Given the description of an element on the screen output the (x, y) to click on. 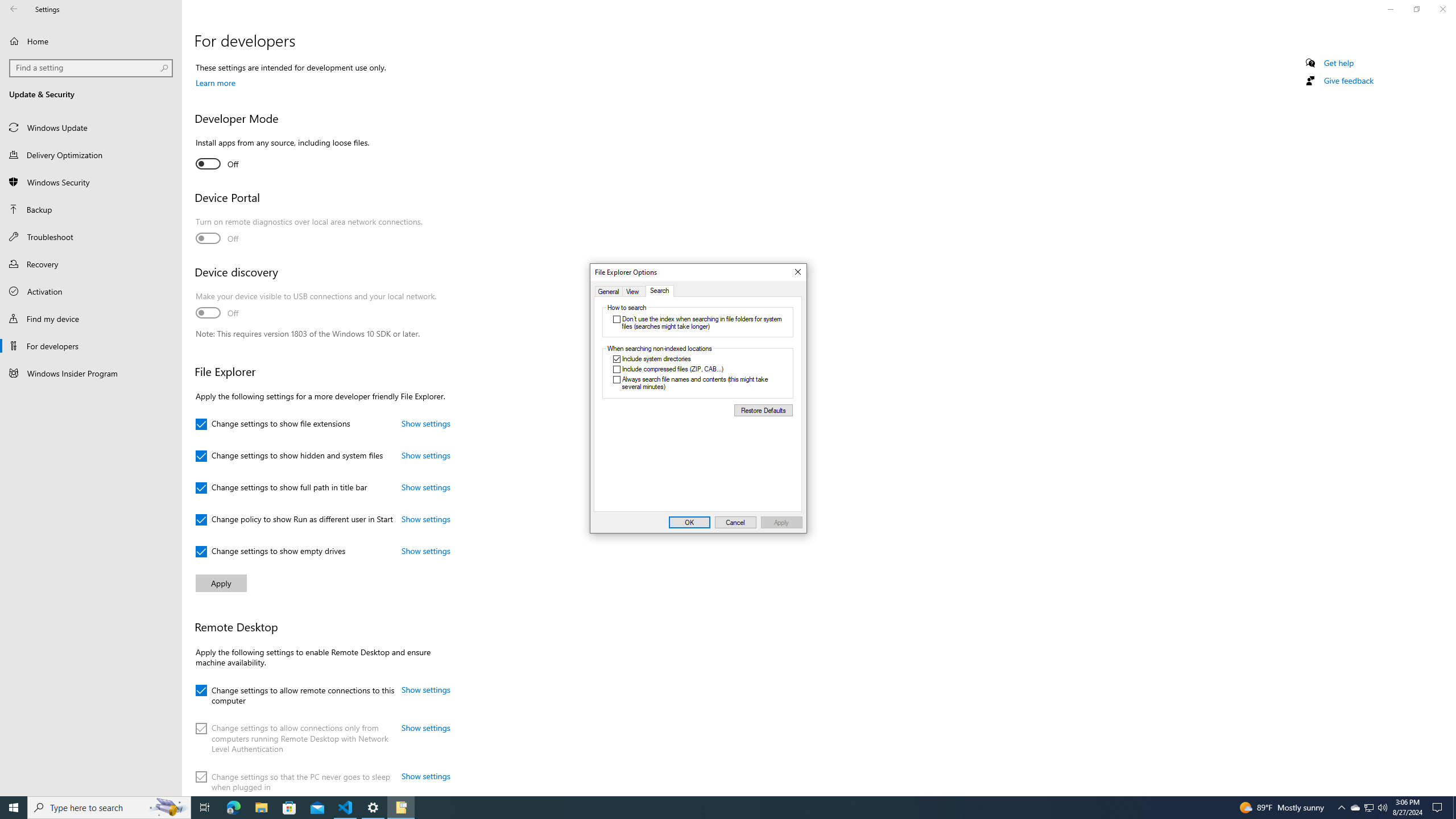
Task View (204, 807)
Running applications (717, 807)
Settings - 1 running window (373, 807)
Action Center, No new notifications (1439, 807)
Search (1368, 807)
Microsoft Store (659, 290)
General (289, 807)
Restore Defaults (609, 290)
File Explorer (763, 409)
Include compressed files (ZIP, CAB...) (261, 807)
Type here to search (697, 369)
OK (108, 807)
